Given the description of an element on the screen output the (x, y) to click on. 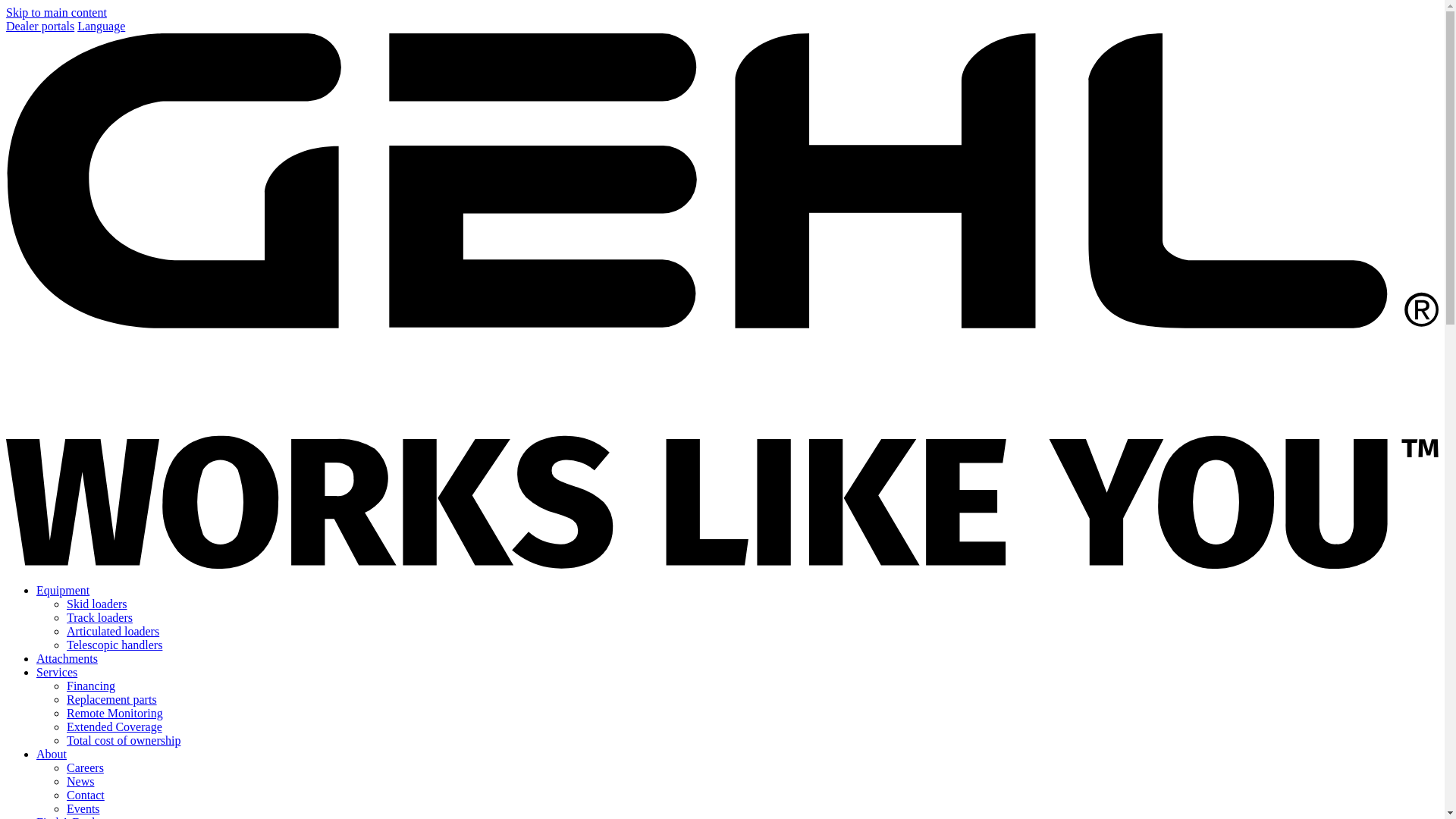
Track loaders (99, 617)
About (51, 753)
Language (101, 25)
Careers (84, 767)
Find A Dealer (70, 817)
Dealer portals (39, 25)
Skid loaders (97, 603)
Remote Monitoring (114, 712)
Telescopic handlers (113, 644)
Contact (85, 794)
Services (56, 671)
Financing (90, 685)
Find a Gehl dealer (70, 817)
Extended Coverage (113, 726)
Skip to main content (55, 11)
